Given the description of an element on the screen output the (x, y) to click on. 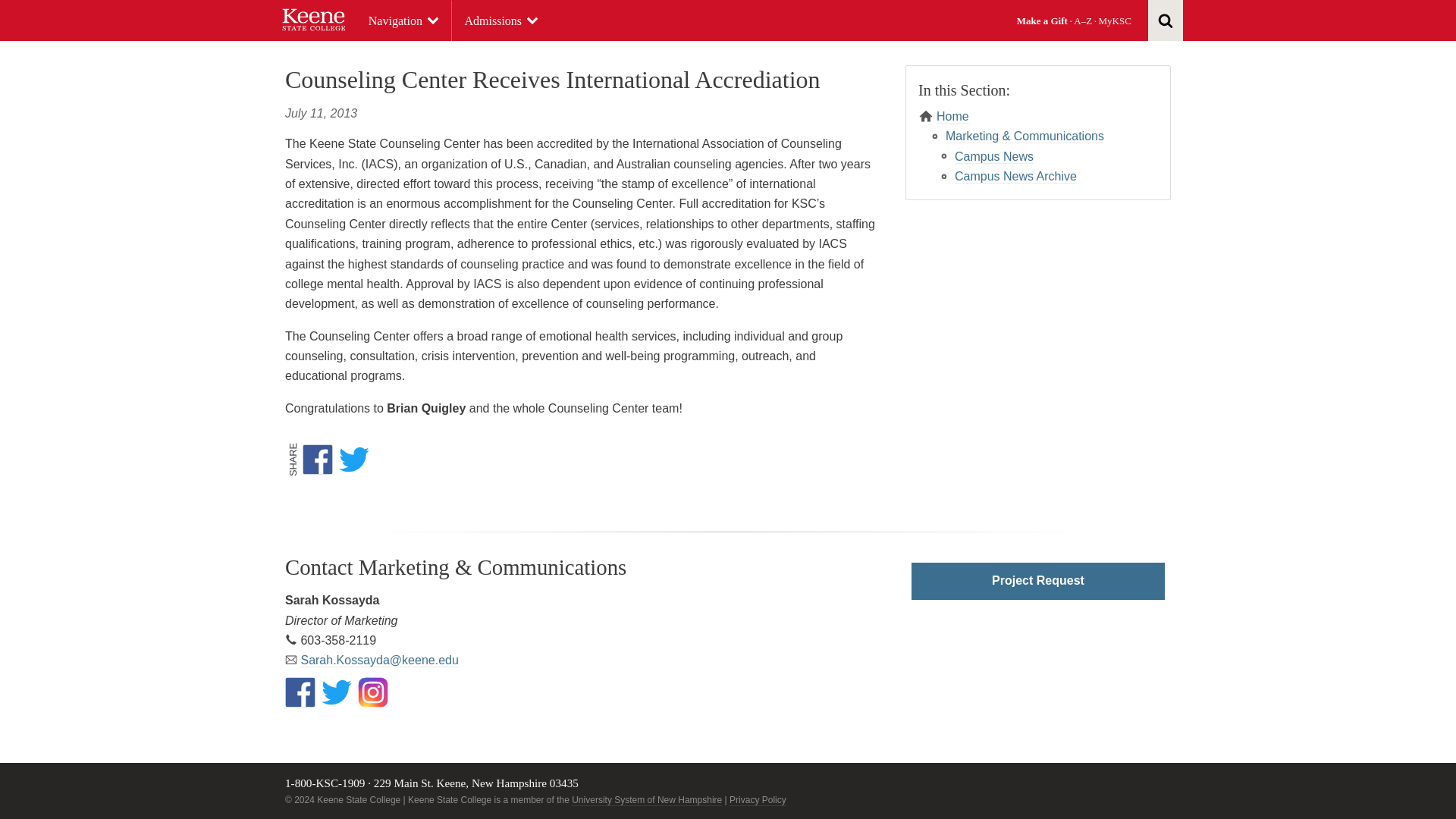
Navigation (403, 20)
Keene State College (314, 20)
MyKSC (1115, 20)
Campus News Archive (1016, 176)
Visit us on Facebook (300, 692)
Campus News (994, 156)
Homepage (314, 20)
Privacy Policy (757, 799)
Project Request (1037, 580)
